Given the description of an element on the screen output the (x, y) to click on. 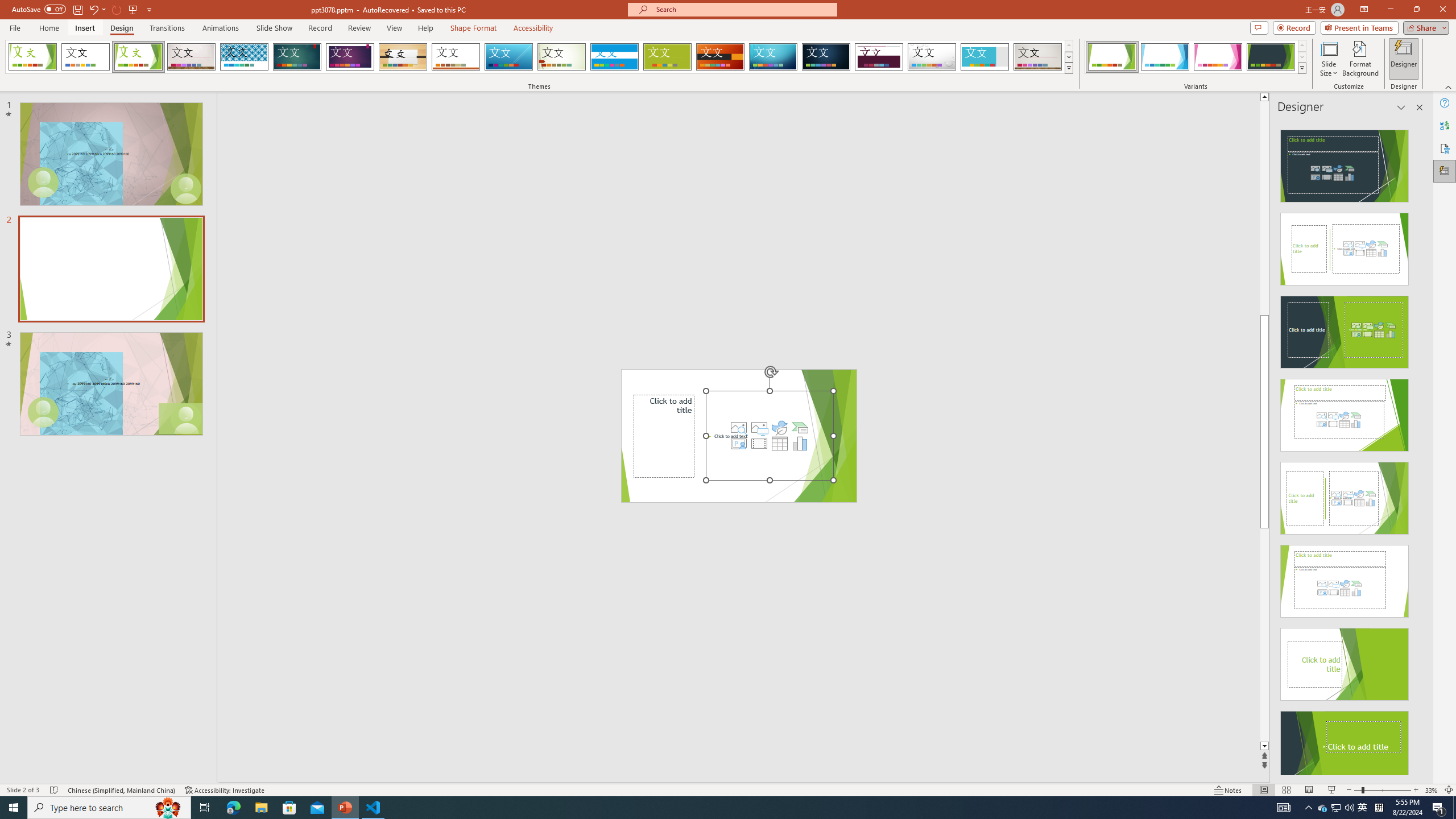
Wisp (561, 56)
Dividend (879, 56)
Variants (1301, 67)
Facet Variant 4 (1270, 56)
Droplet (931, 56)
Retrospect (455, 56)
Slide Size (1328, 58)
